Given the description of an element on the screen output the (x, y) to click on. 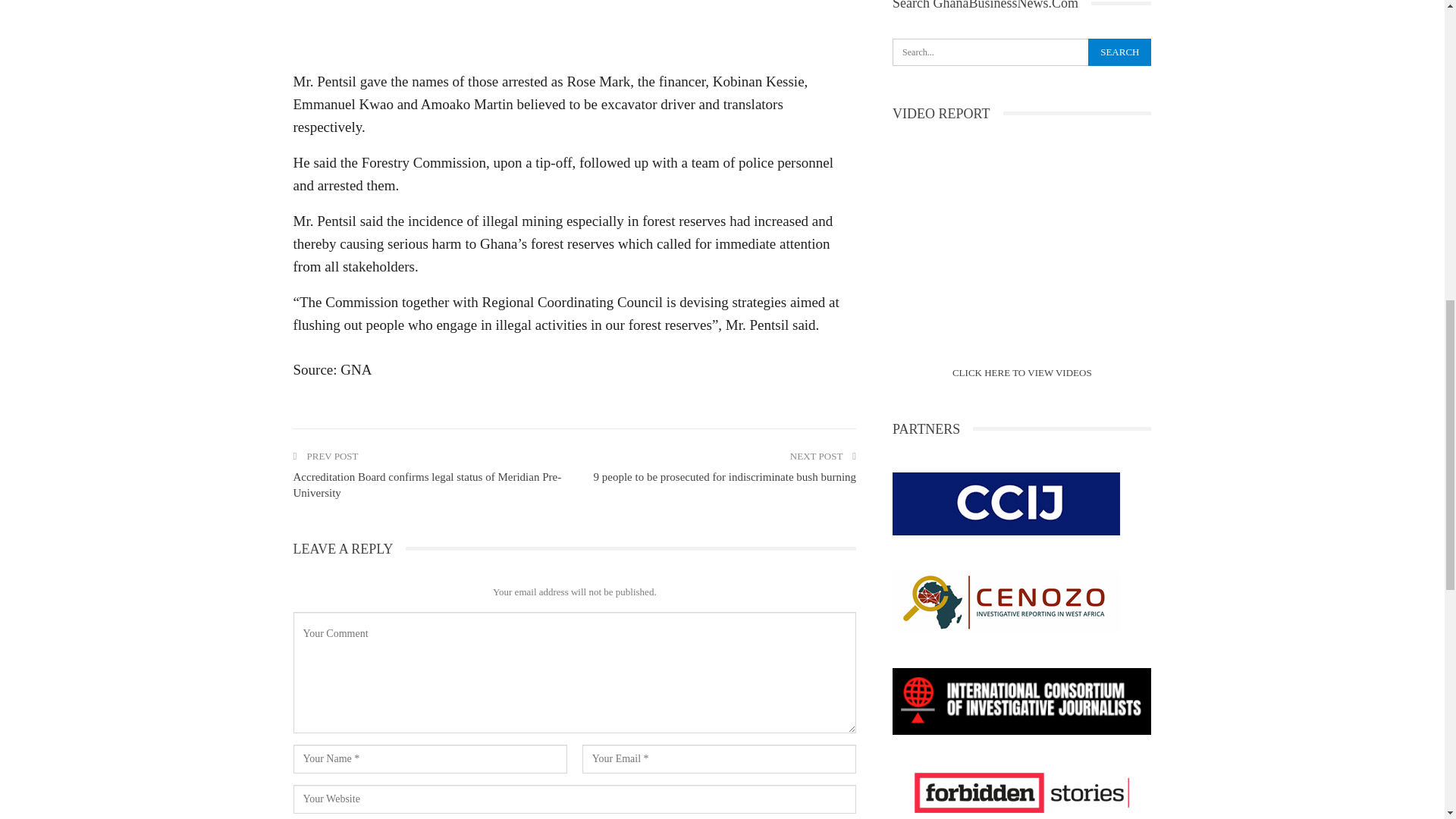
Search (1119, 52)
9 people to be prosecuted for indiscriminate bush burning (724, 476)
Advertisement (574, 30)
Search (1119, 52)
